Given the description of an element on the screen output the (x, y) to click on. 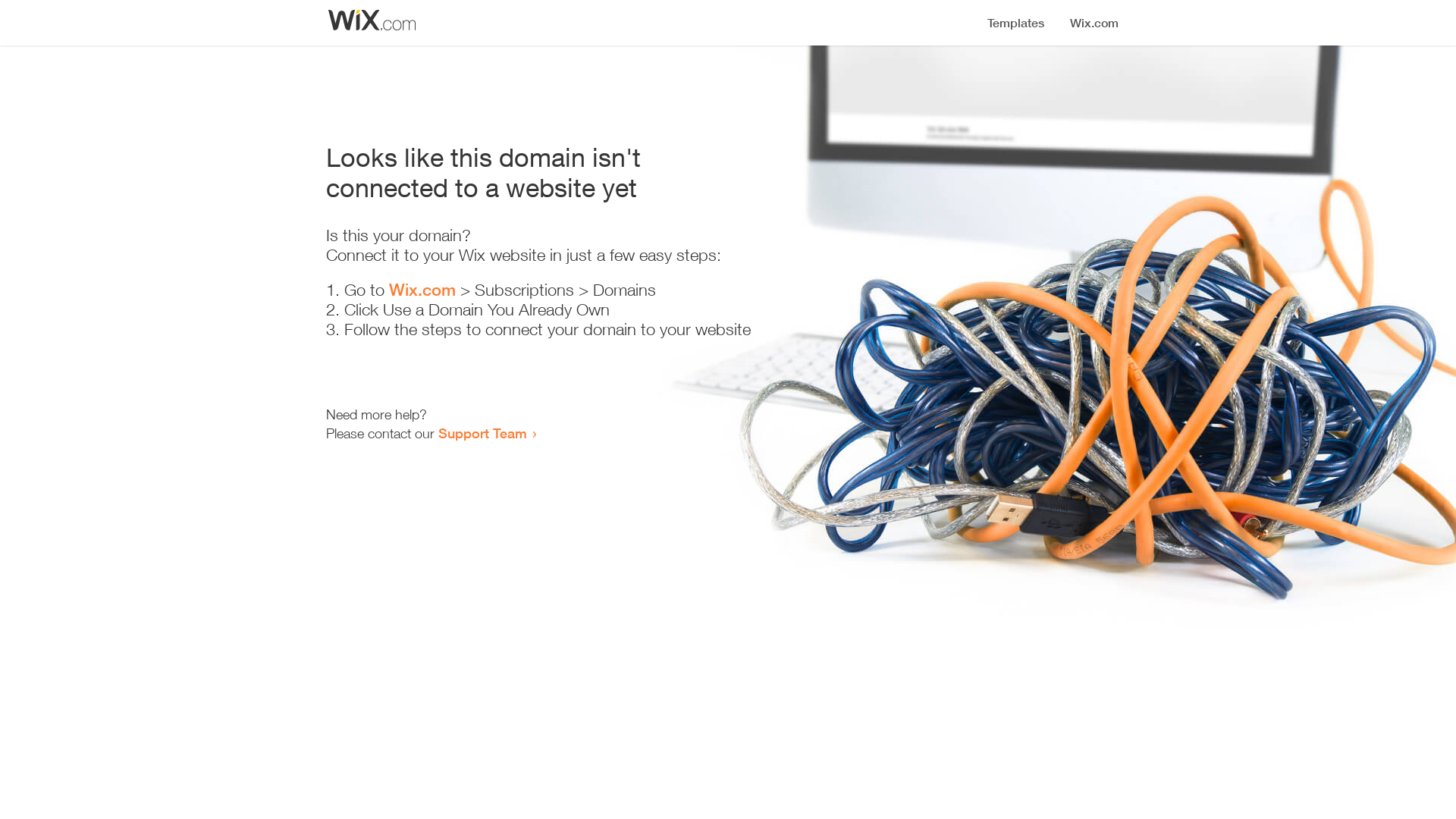
Wix.com Element type: text (422, 289)
Support Team Element type: text (482, 432)
